Given the description of an element on the screen output the (x, y) to click on. 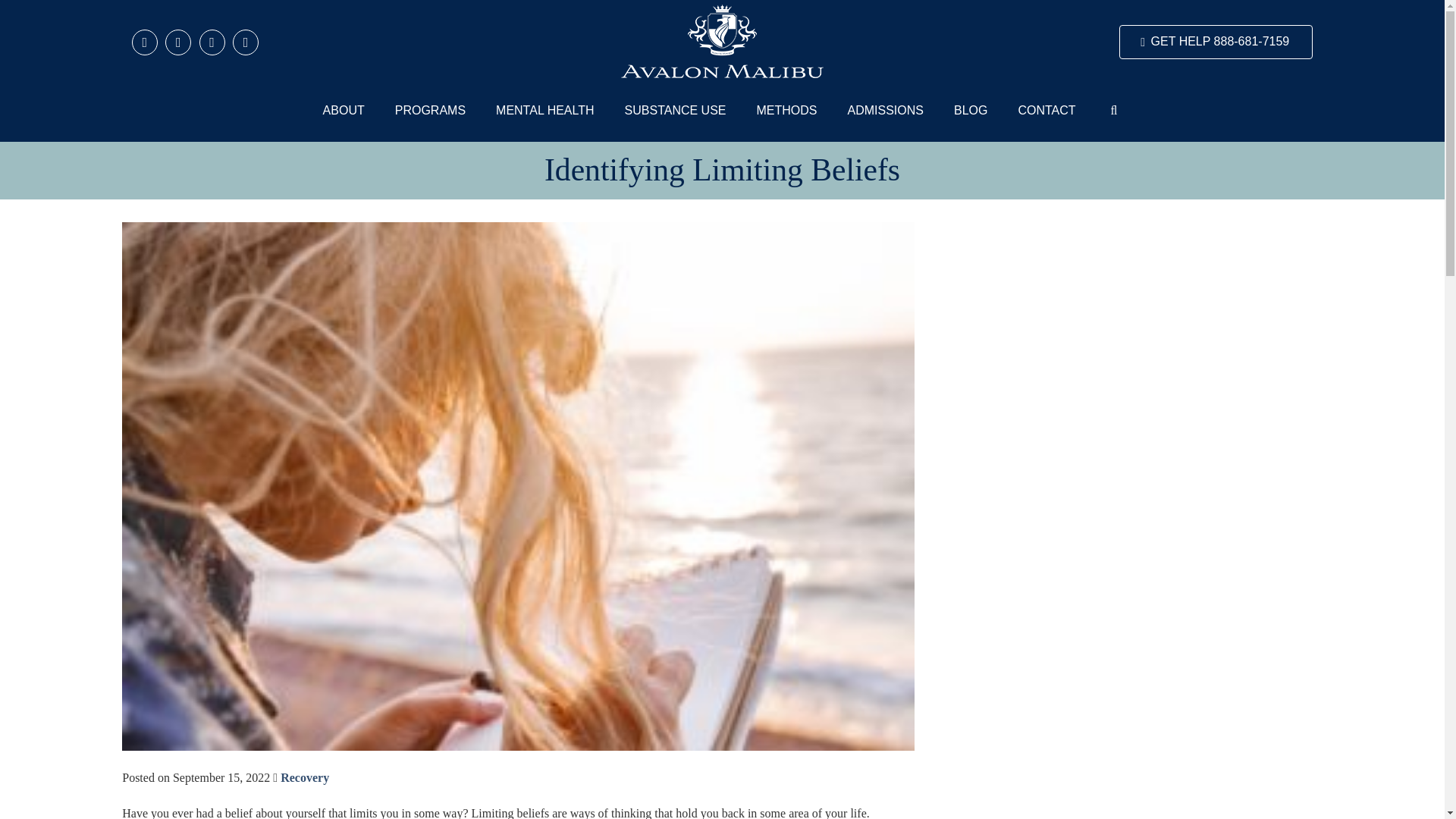
ABOUT (343, 110)
PROGRAMS (1216, 41)
twitter (430, 110)
linkedin (148, 42)
MENTAL HEALTH (247, 42)
instagram (545, 110)
facebook (215, 42)
